Given the description of an element on the screen output the (x, y) to click on. 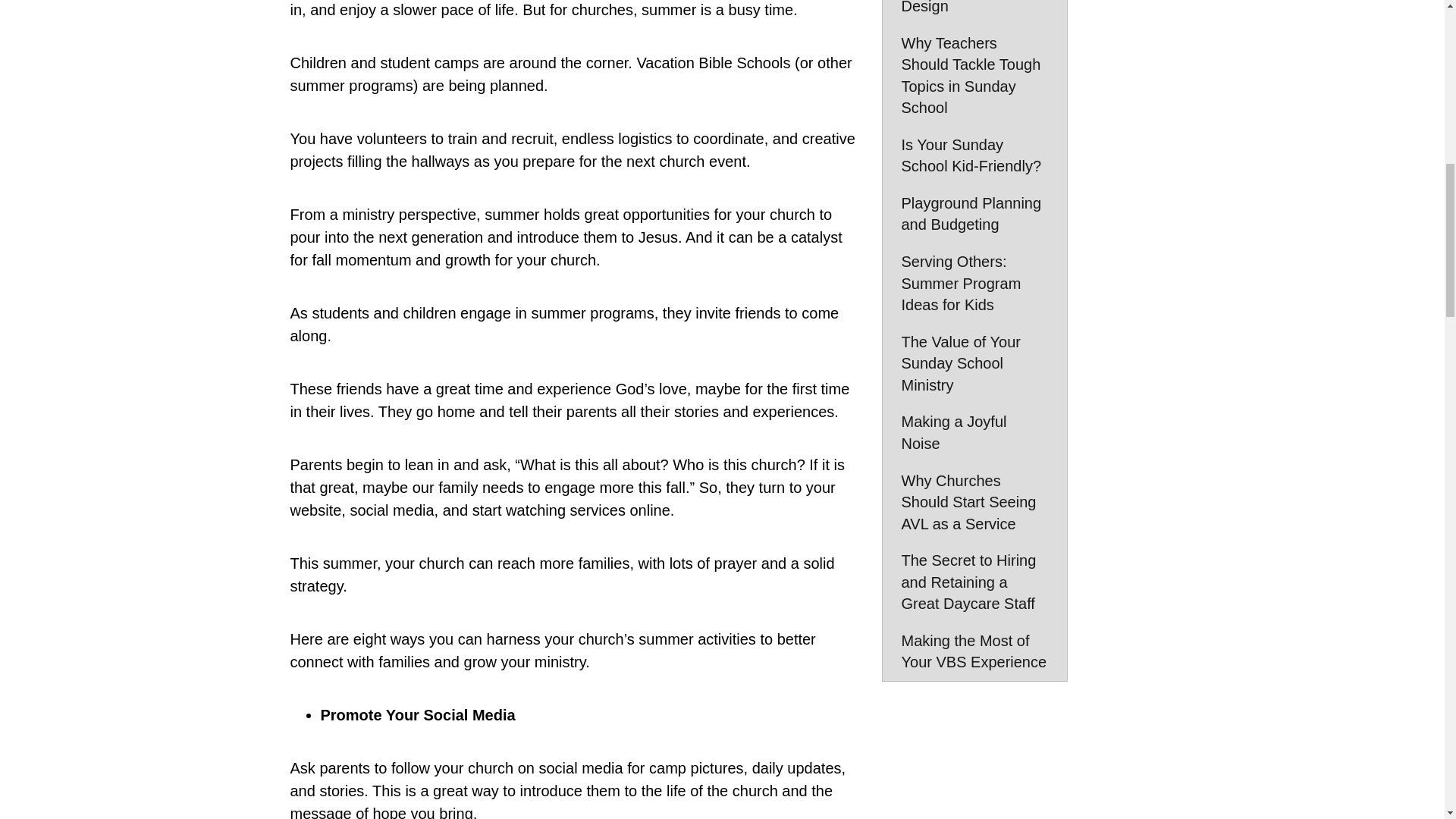
Playground Planning and Budgeting (973, 214)
Making the Most of Your VBS Experience (973, 651)
Is Your Sunday School Kid-Friendly? (973, 155)
The Value of Your Sunday School Ministry (973, 363)
Making a Joyful Noise (973, 432)
Why Teachers Should Tackle Tough Topics in Sunday School (973, 75)
The Secret to Hiring and Retaining a Great Daycare Staff (973, 582)
Serving Others: Summer Program Ideas for Kids (973, 283)
Why Churches Should Start Seeing AVL as a Service (973, 502)
